Given the description of an element on the screen output the (x, y) to click on. 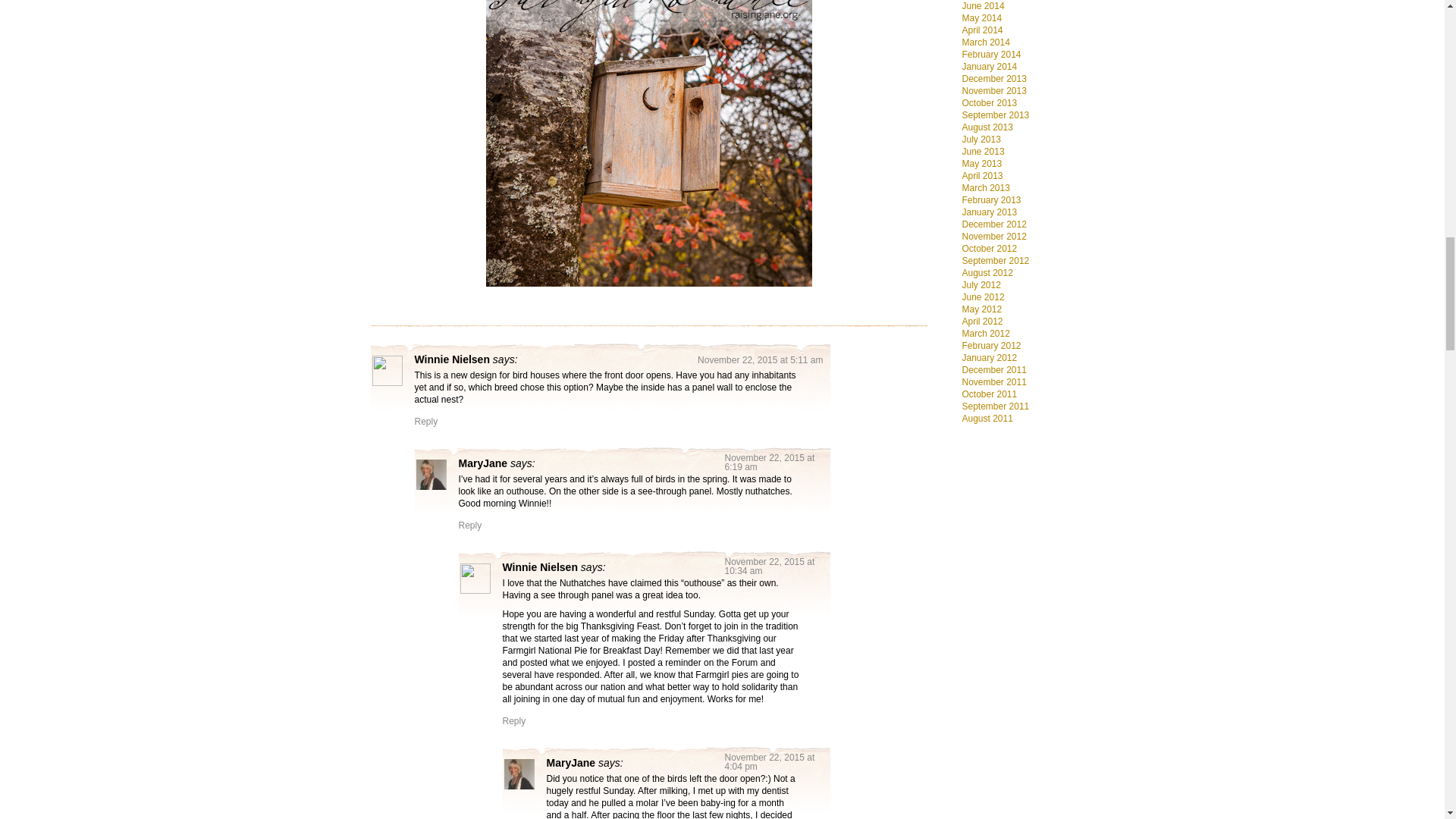
Reply (425, 421)
November 22, 2015 at 10:34 am (770, 566)
Reply (513, 720)
Reply (469, 525)
November 22, 2015 at 6:19 am (770, 462)
November 22, 2015 at 5:11 am (759, 359)
November 22, 2015 at 4:04 pm (770, 762)
